Given the description of an element on the screen output the (x, y) to click on. 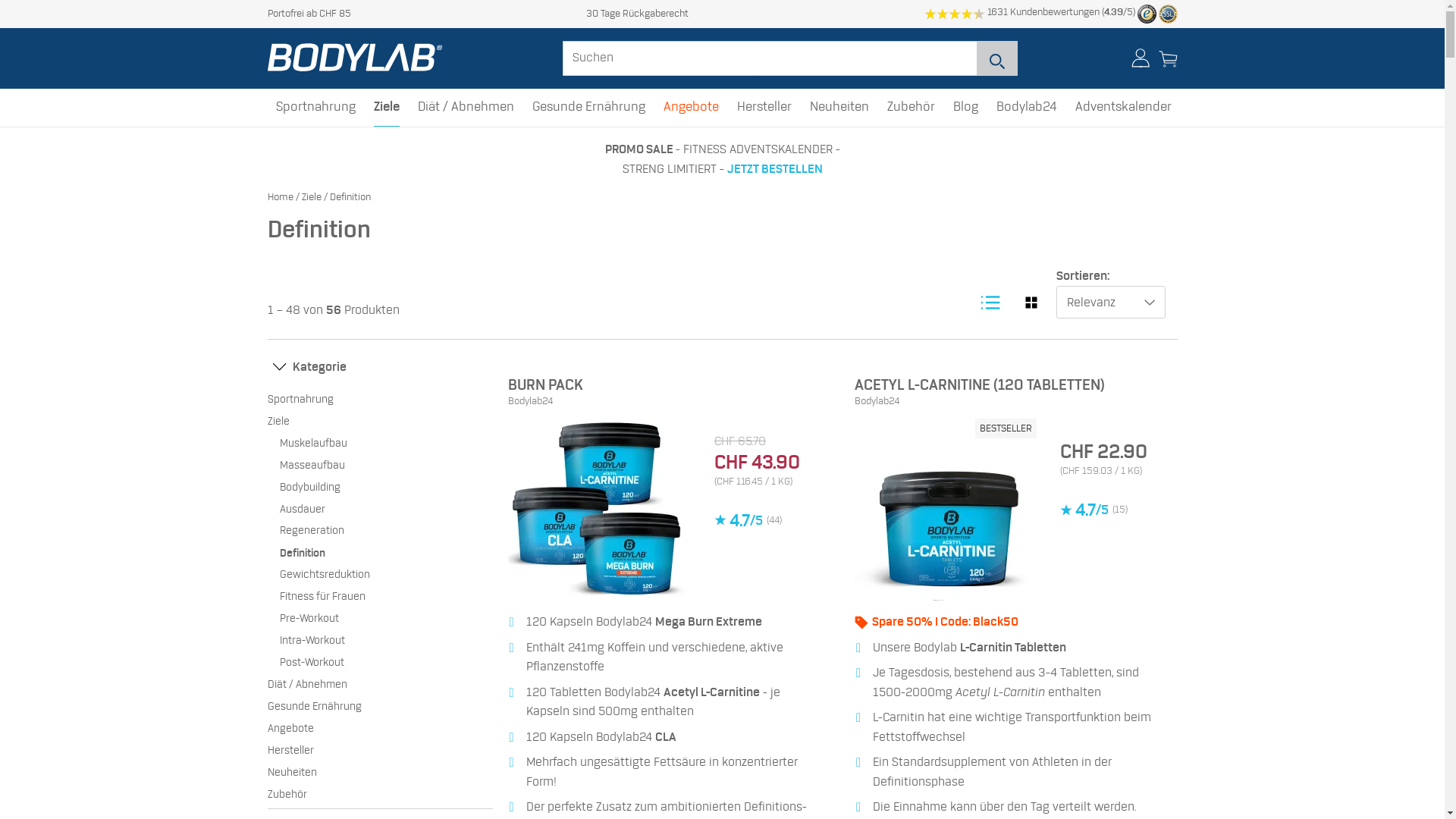
Hersteller Element type: text (764, 107)
Intra-Workout Element type: text (385, 640)
Angebote Element type: text (379, 728)
Gewichtsreduktion Element type: text (385, 574)
bodylab Logo Element type: hover (357, 58)
Muskelaufbau Element type: text (385, 443)
Ausdauer Element type: text (385, 509)
Portofrei ab CHF 85 Element type: text (308, 13)
Ziele Element type: text (379, 421)
Neuheiten Element type: text (379, 772)
Bodybuilding Element type: text (385, 487)
Post-Workout Element type: text (385, 662)
Pre-Workout Element type: text (385, 618)
Sportnahrung Element type: text (379, 399)
1631 Kundenbewertungen (4.39/5) Element type: text (1029, 12)
Suchen Element type: text (996, 57)
Hersteller Element type: text (379, 750)
Definition Element type: text (385, 552)
Angebote Element type: text (690, 107)
Masseaufbau Element type: text (385, 465)
Adventskalender Element type: text (1123, 107)
Regeneration Element type: text (385, 530)
Ziele Element type: text (386, 107)
BURN PACK Element type: text (545, 384)
Sportnahrung Element type: text (315, 107)
Zum Warenkorb Element type: hover (1167, 67)
JETZT BESTELLEN Element type: text (774, 167)
Bodylab24 Element type: text (1026, 107)
Neuheiten Element type: text (839, 107)
Ziele Element type: text (311, 197)
ACETYL L-CARNITINE (120 TABLETTEN) Element type: text (979, 384)
Home Element type: text (279, 197)
Blog Element type: text (965, 107)
